Given the description of an element on the screen output the (x, y) to click on. 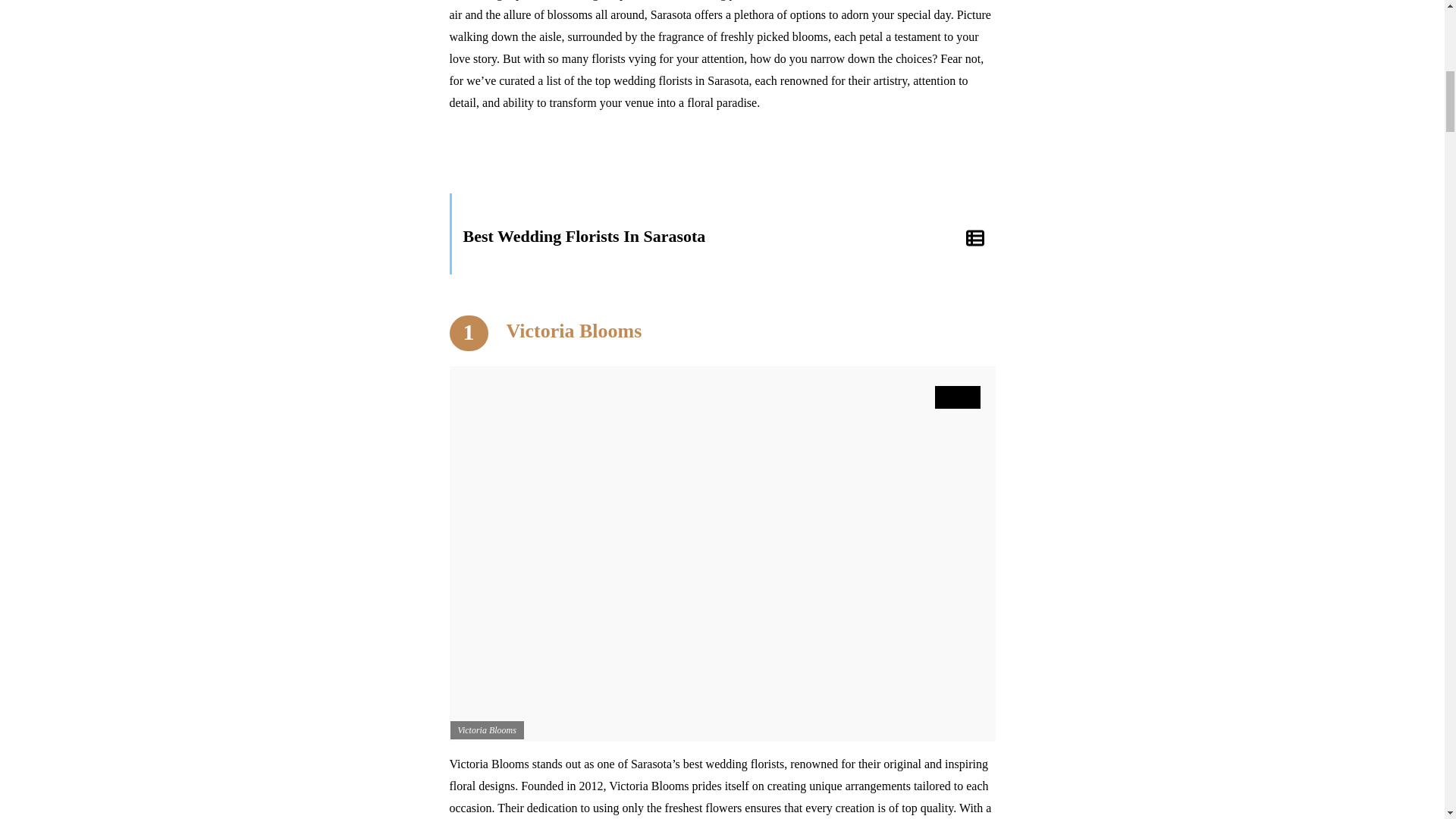
Pin it (956, 396)
Victoria Blooms (573, 331)
